Given the description of an element on the screen output the (x, y) to click on. 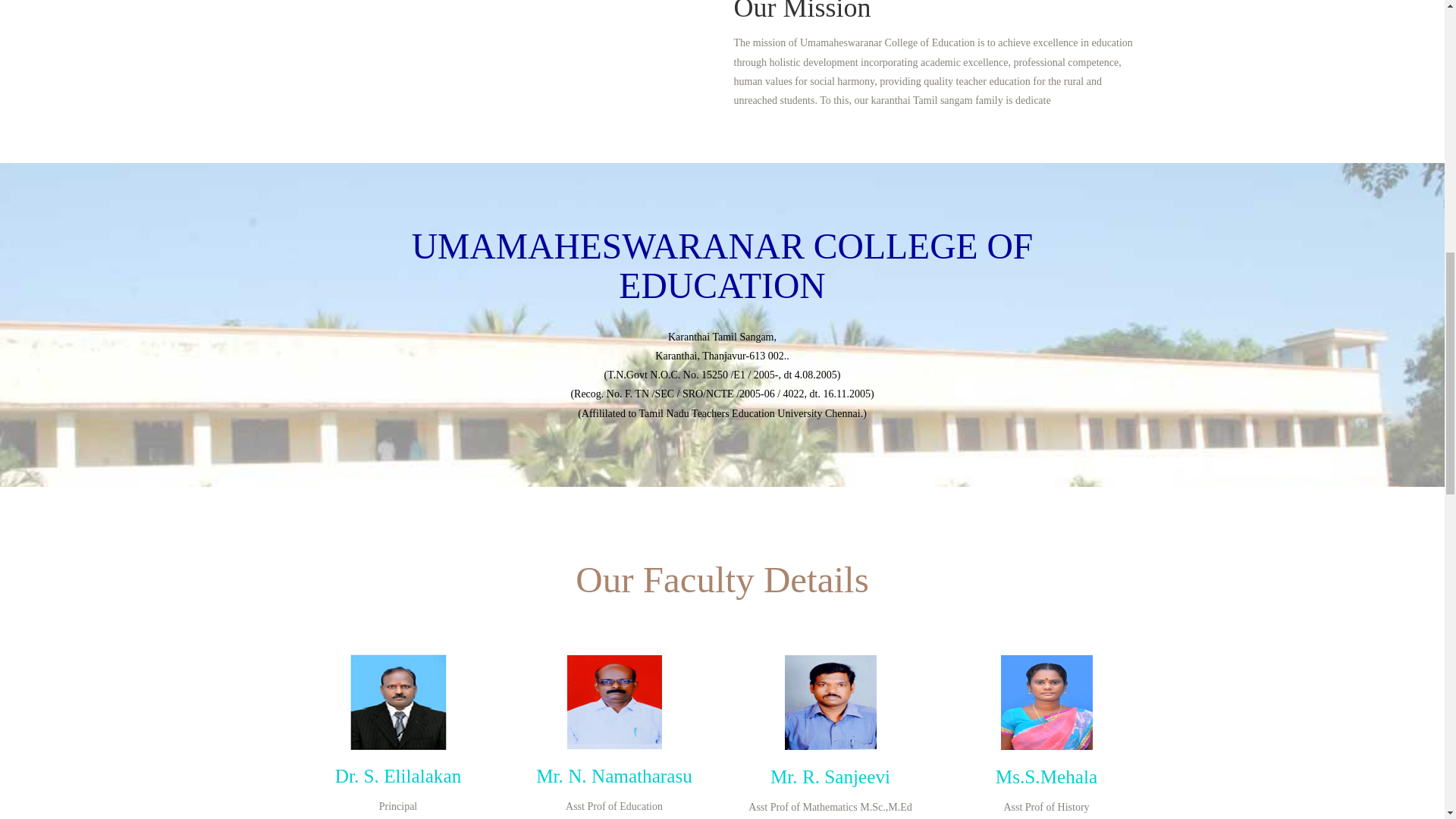
Dr. S. Elilalakan (397, 775)
Ms.S.Mehala (1046, 776)
Mr. N. Namatharasu (614, 775)
Mr. R. Sanjeevi (829, 776)
